Given the description of an element on the screen output the (x, y) to click on. 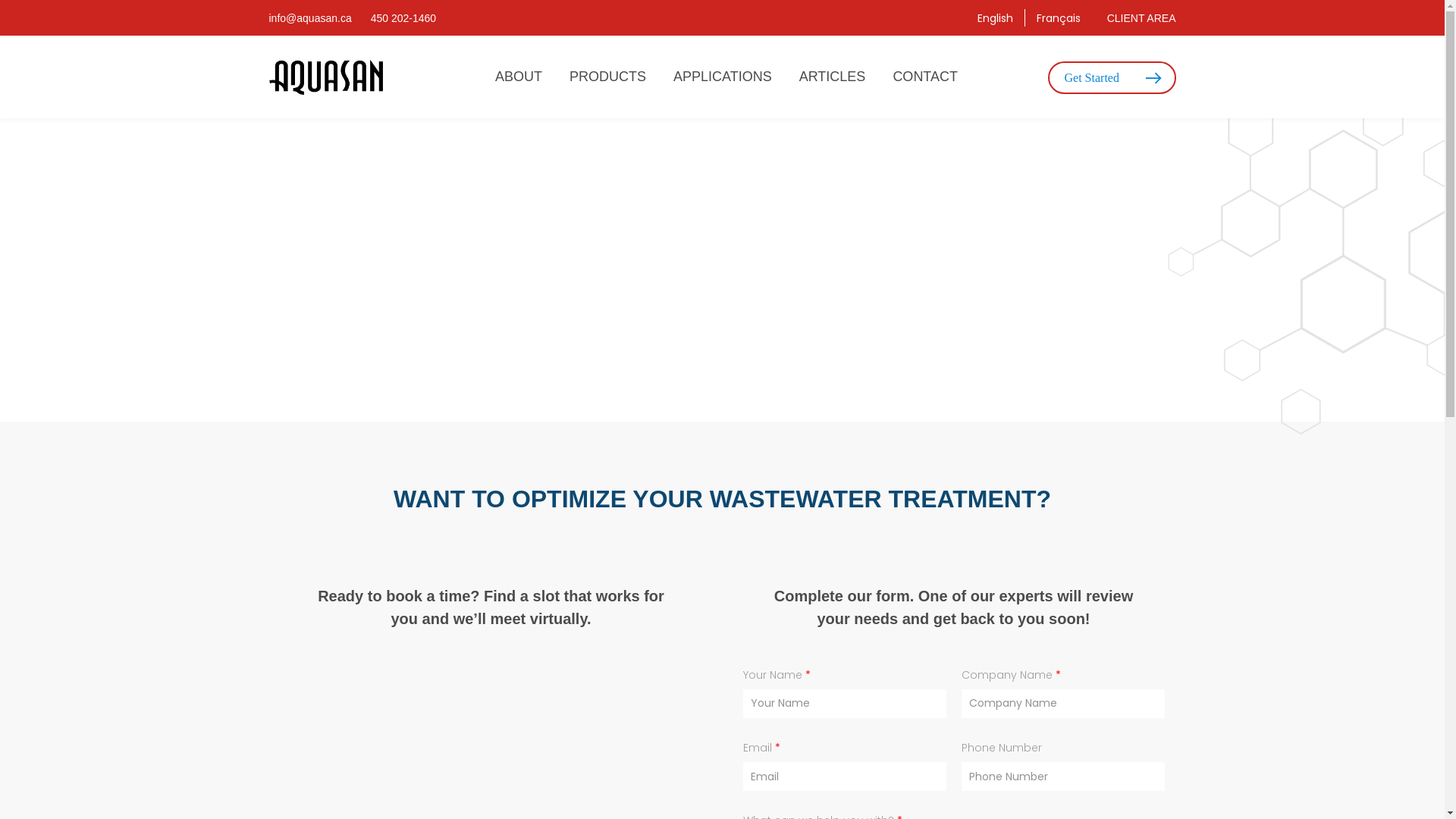
PRODUCTS Element type: text (607, 76)
ARTICLES Element type: text (832, 76)
CONTACT Element type: text (924, 76)
info@aquasan.ca Element type: text (309, 18)
450 202-1460 Element type: text (403, 18)
Get Started Element type: text (1112, 77)
Aquasan Element type: hover (325, 76)
ABOUT Element type: text (518, 76)
APPLICATIONS Element type: text (722, 76)
English Element type: text (995, 17)
CLIENT AREA Element type: text (1141, 18)
